Given the description of an element on the screen output the (x, y) to click on. 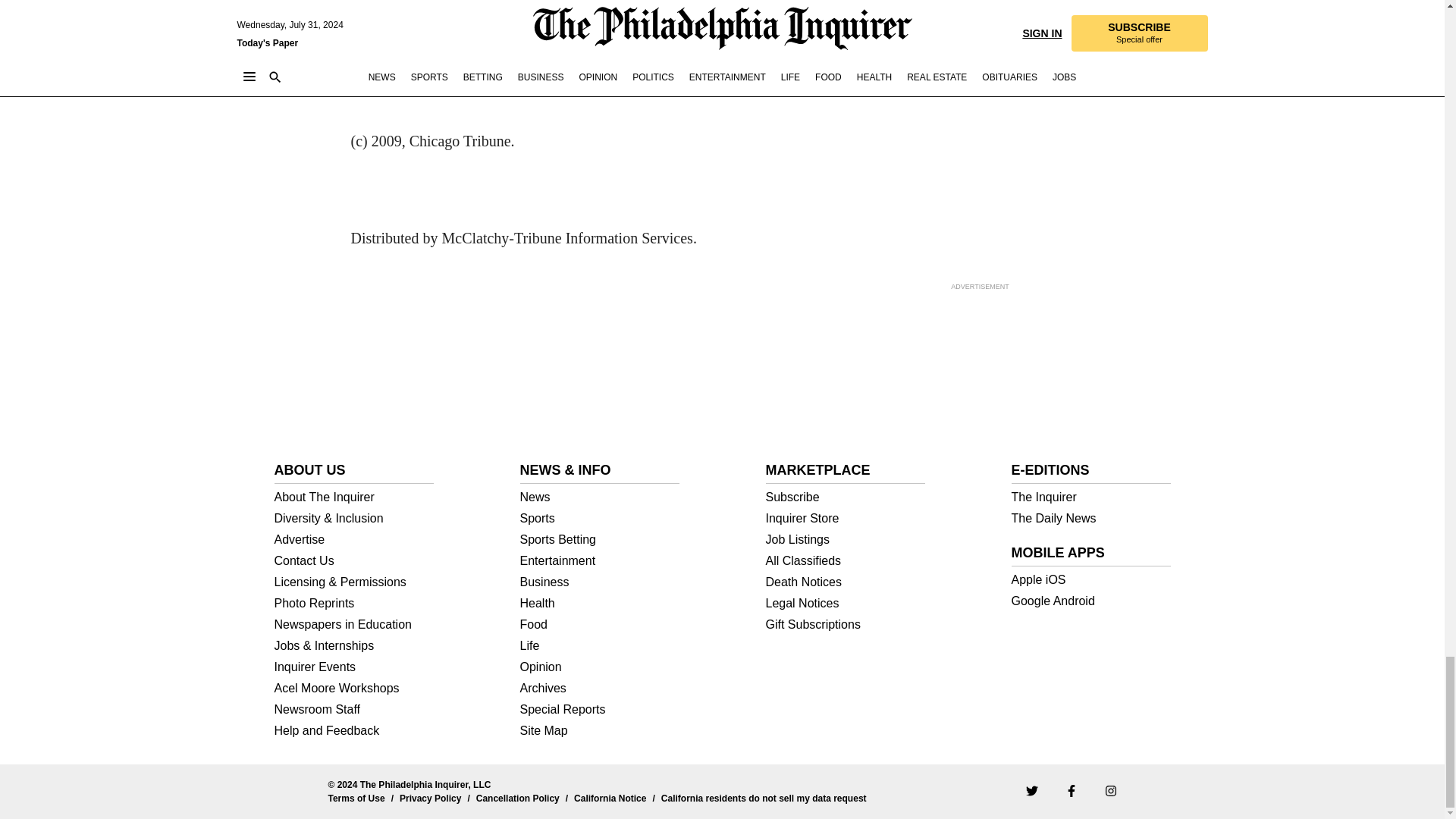
Contact Us (354, 561)
Photo Reprints (354, 603)
Twitter (1030, 789)
Facebook (1070, 789)
Advertise (354, 539)
Instagram (1109, 789)
About The Inquirer (354, 497)
